Given the description of an element on the screen output the (x, y) to click on. 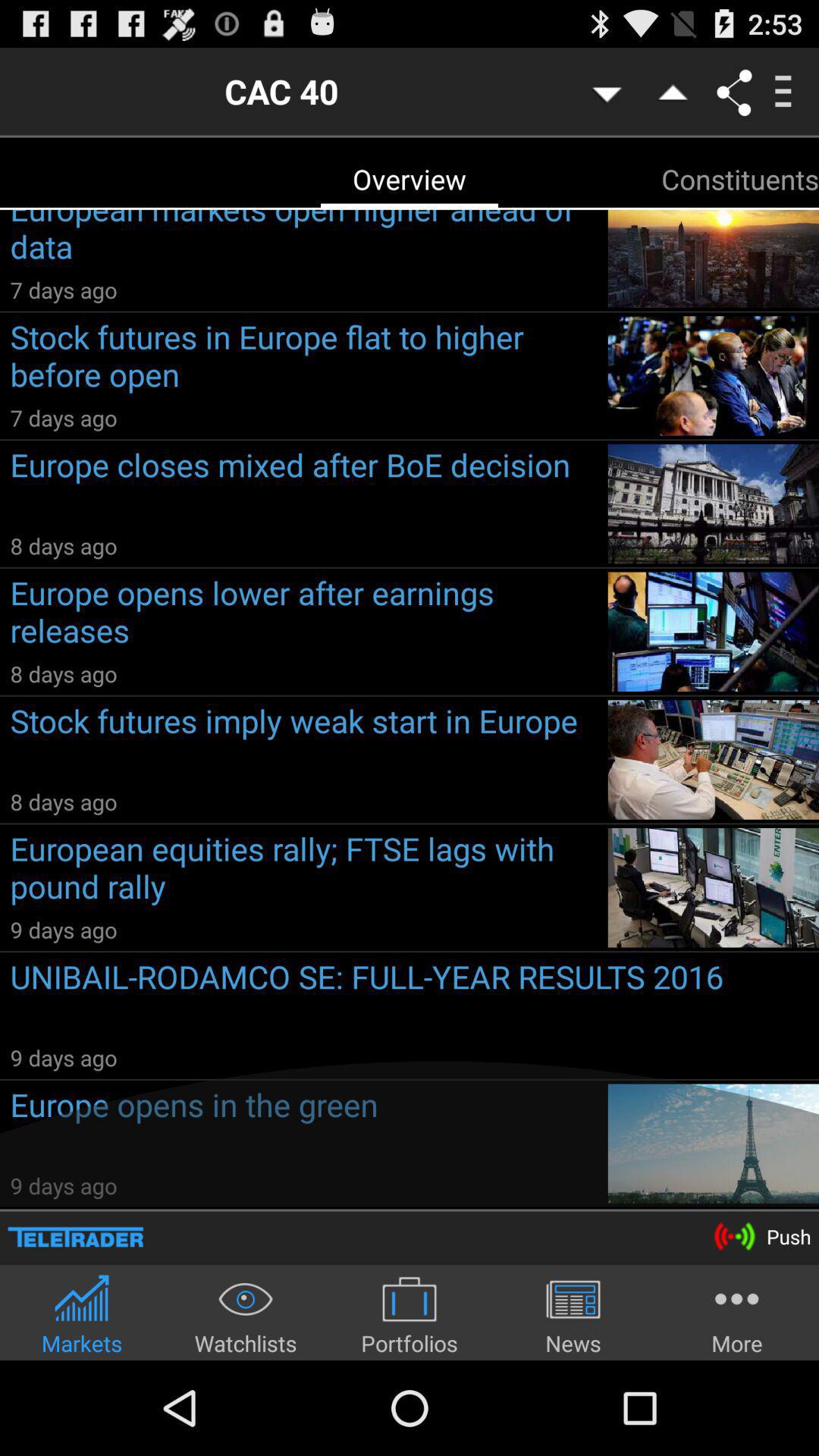
press the item next to the news app (737, 1314)
